Given the description of an element on the screen output the (x, y) to click on. 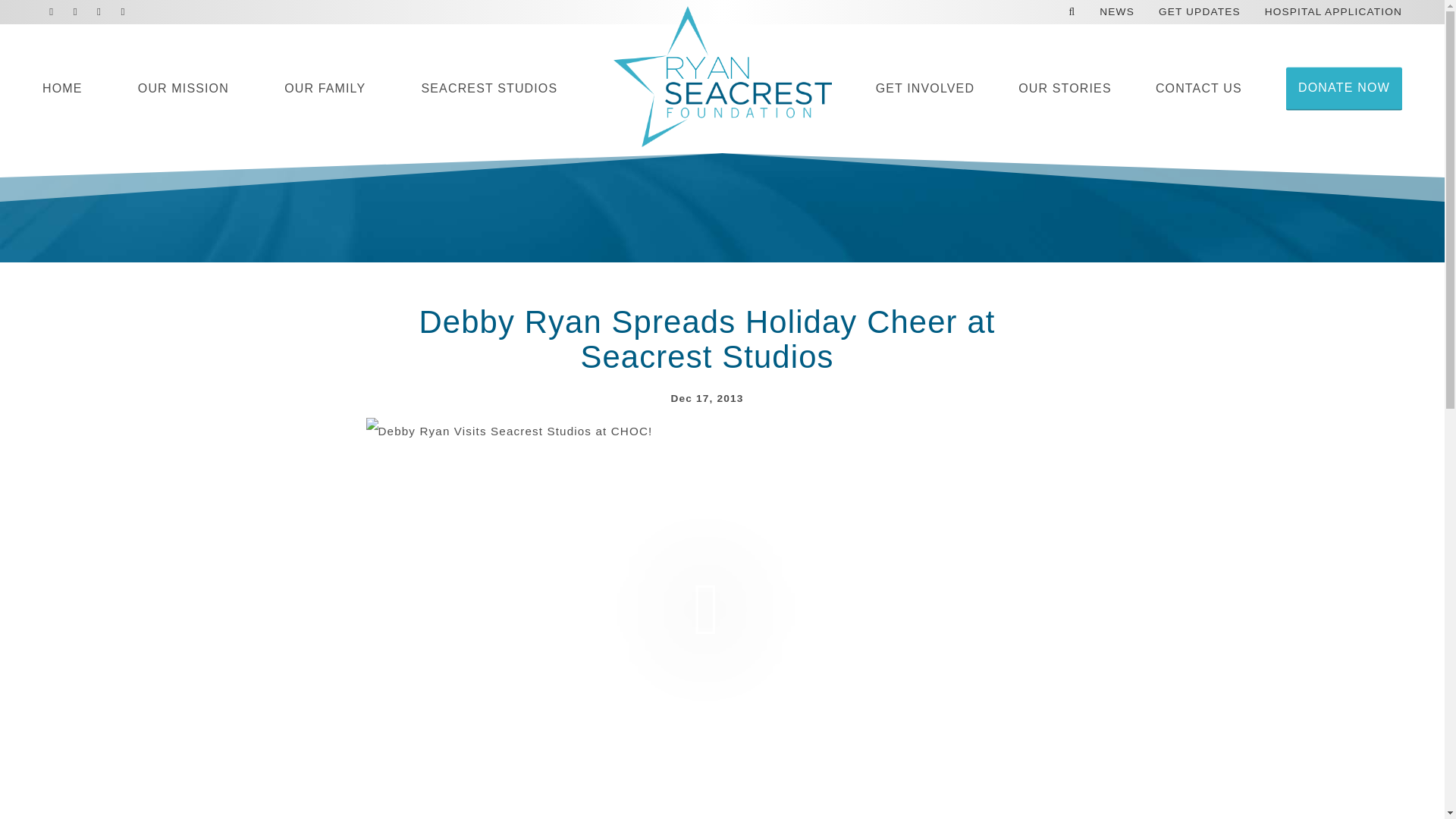
Instagram (99, 12)
SEACREST STUDIOS (489, 88)
GET INVOLVED (925, 88)
Twitter (74, 12)
OUR STORIES (1064, 88)
OUR MISSION (183, 88)
GET UPDATES (1199, 15)
CONTACT US (1198, 88)
Facebook (51, 12)
OUR FAMILY (324, 88)
